Given the description of an element on the screen output the (x, y) to click on. 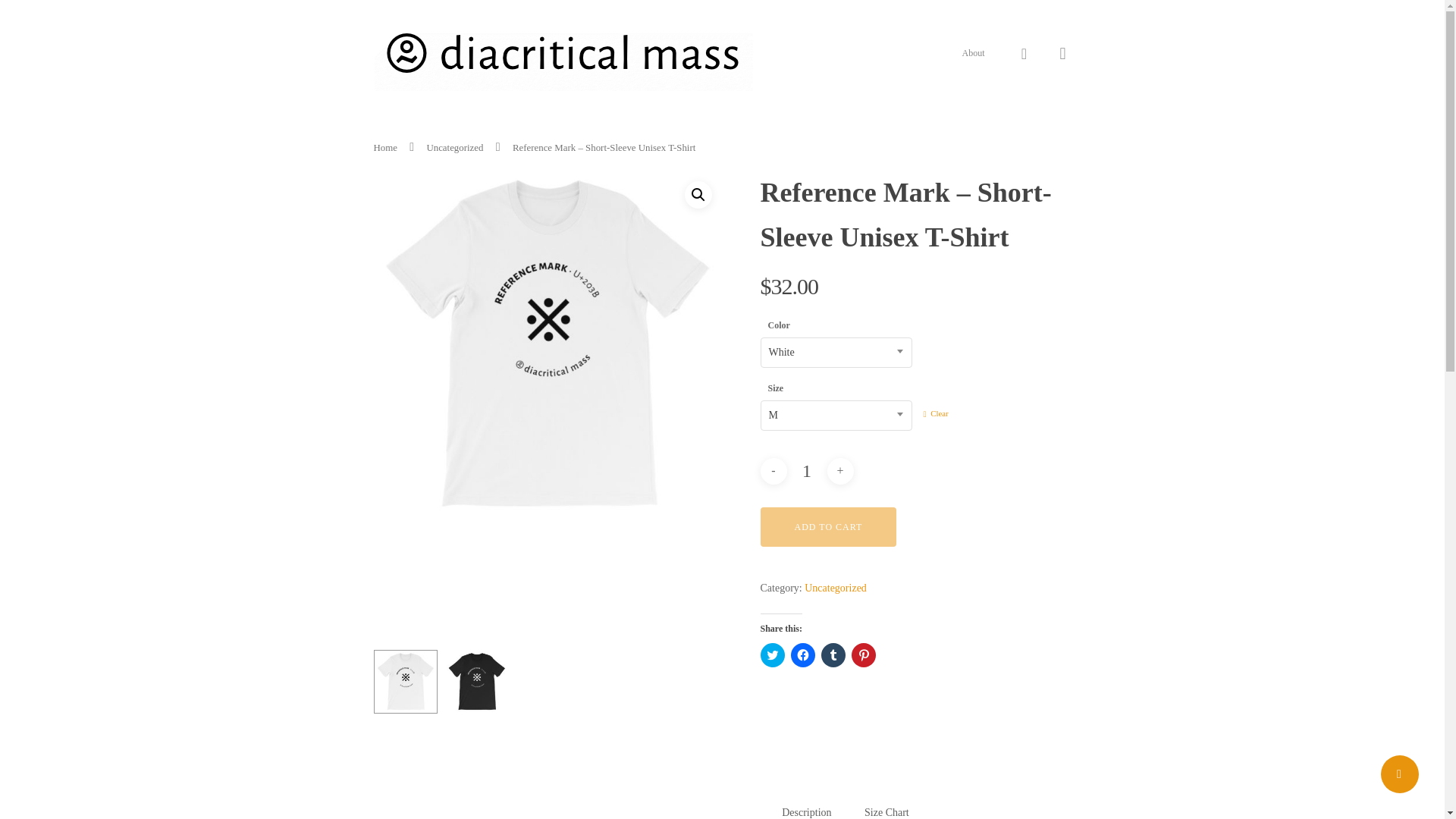
Click to share on Facebook (801, 654)
Click to share on Tumblr (832, 654)
Clear (936, 413)
White (836, 352)
1 (806, 470)
ADD TO CART (828, 526)
Description (806, 811)
Uncategorized (454, 147)
Uncategorized (835, 587)
Click to share on Twitter (772, 654)
